Given the description of an element on the screen output the (x, y) to click on. 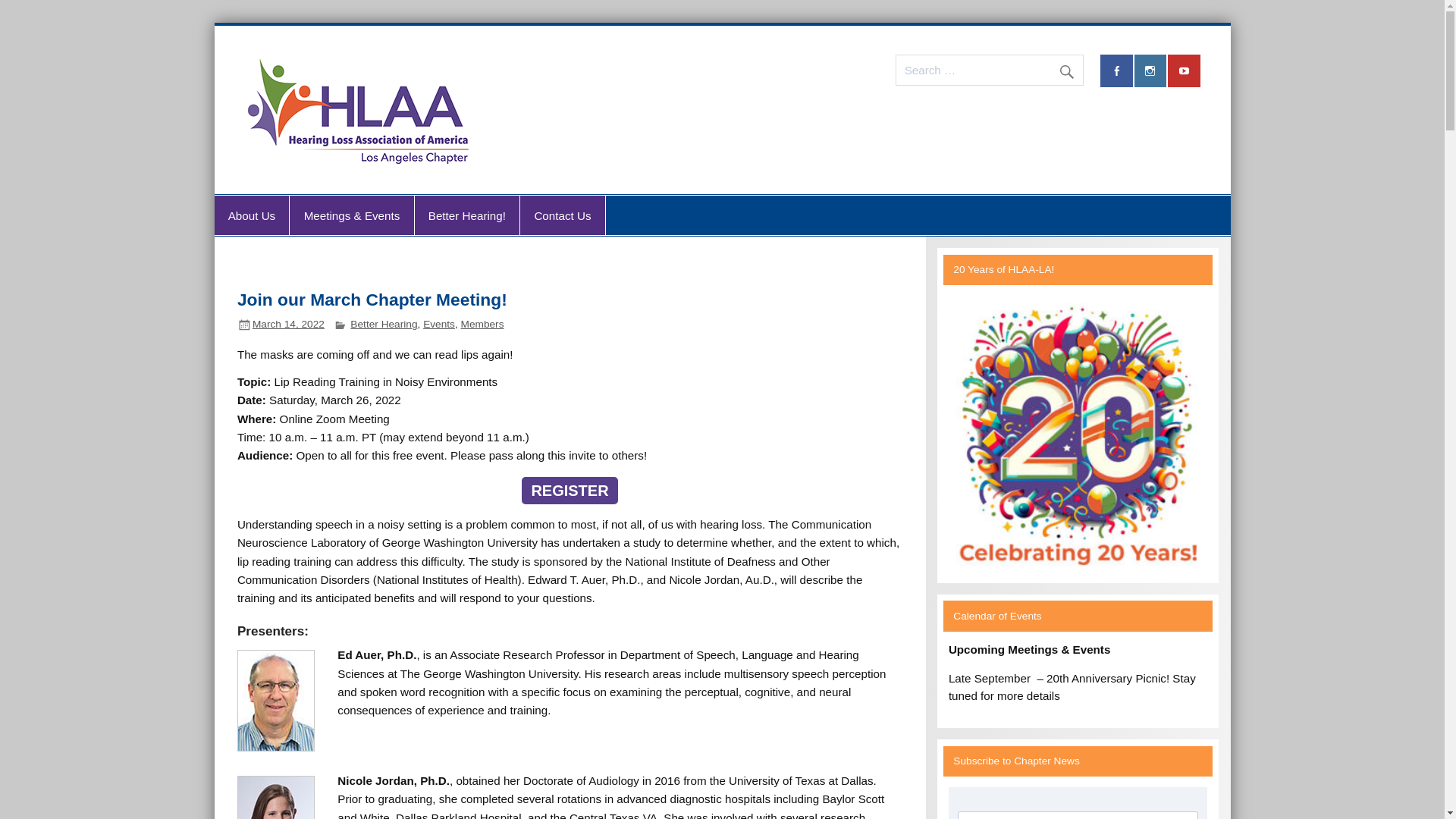
Members (482, 324)
Better Hearing (383, 324)
Events (438, 324)
HLAA-LA (551, 69)
REGISTER (569, 490)
About Us (251, 215)
Contact Us (562, 215)
About Us (251, 215)
10:34 pm (287, 324)
Contact Us (562, 215)
